Given the description of an element on the screen output the (x, y) to click on. 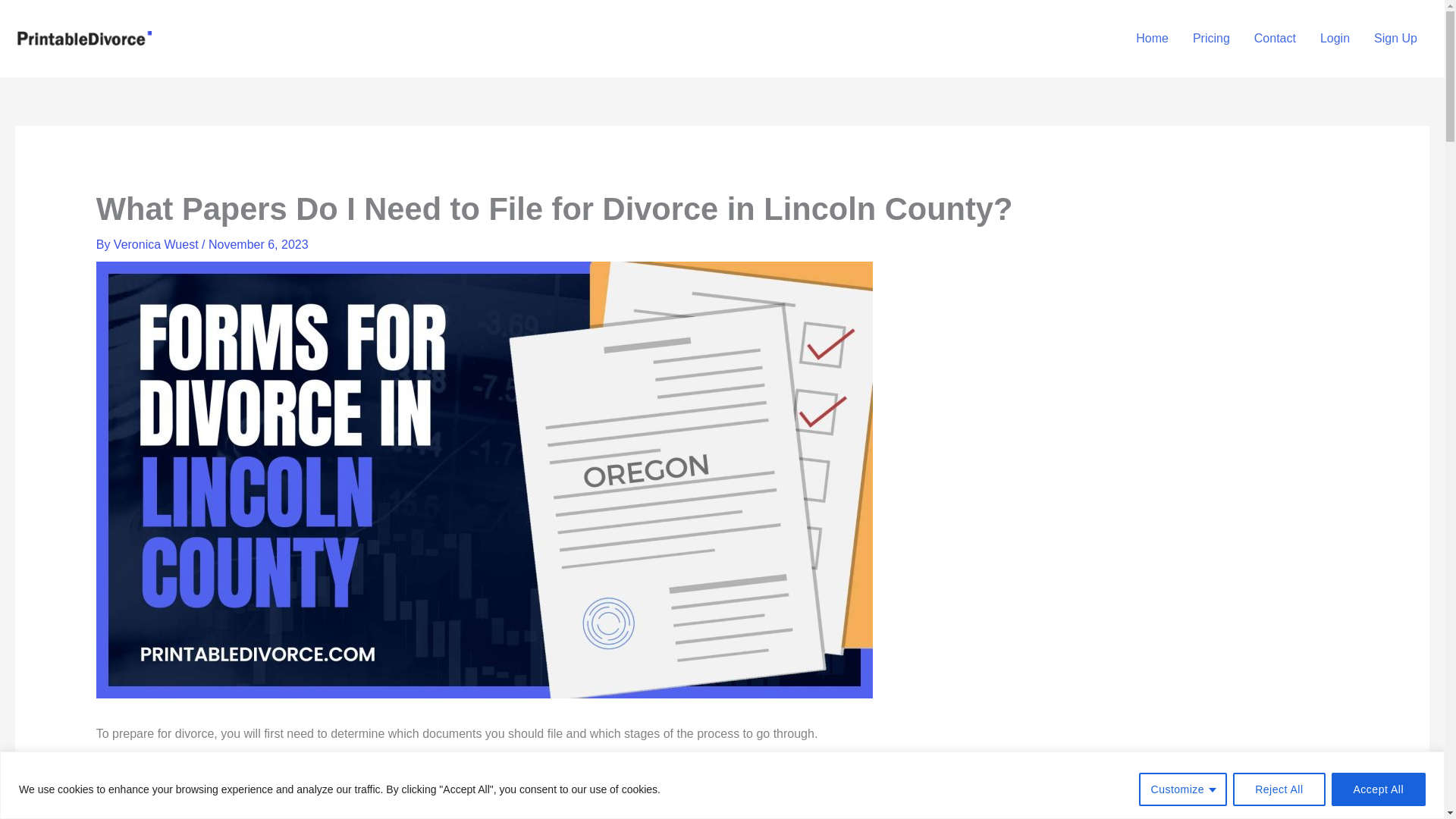
Login (1334, 38)
Sign Up (1395, 38)
Veronica Wuest (157, 244)
Home (1152, 38)
Accept All (1378, 788)
View all posts by Veronica Wuest (157, 244)
Pricing (1210, 38)
Reject All (1278, 788)
Contact (1274, 38)
Customize (1182, 788)
